Given the description of an element on the screen output the (x, y) to click on. 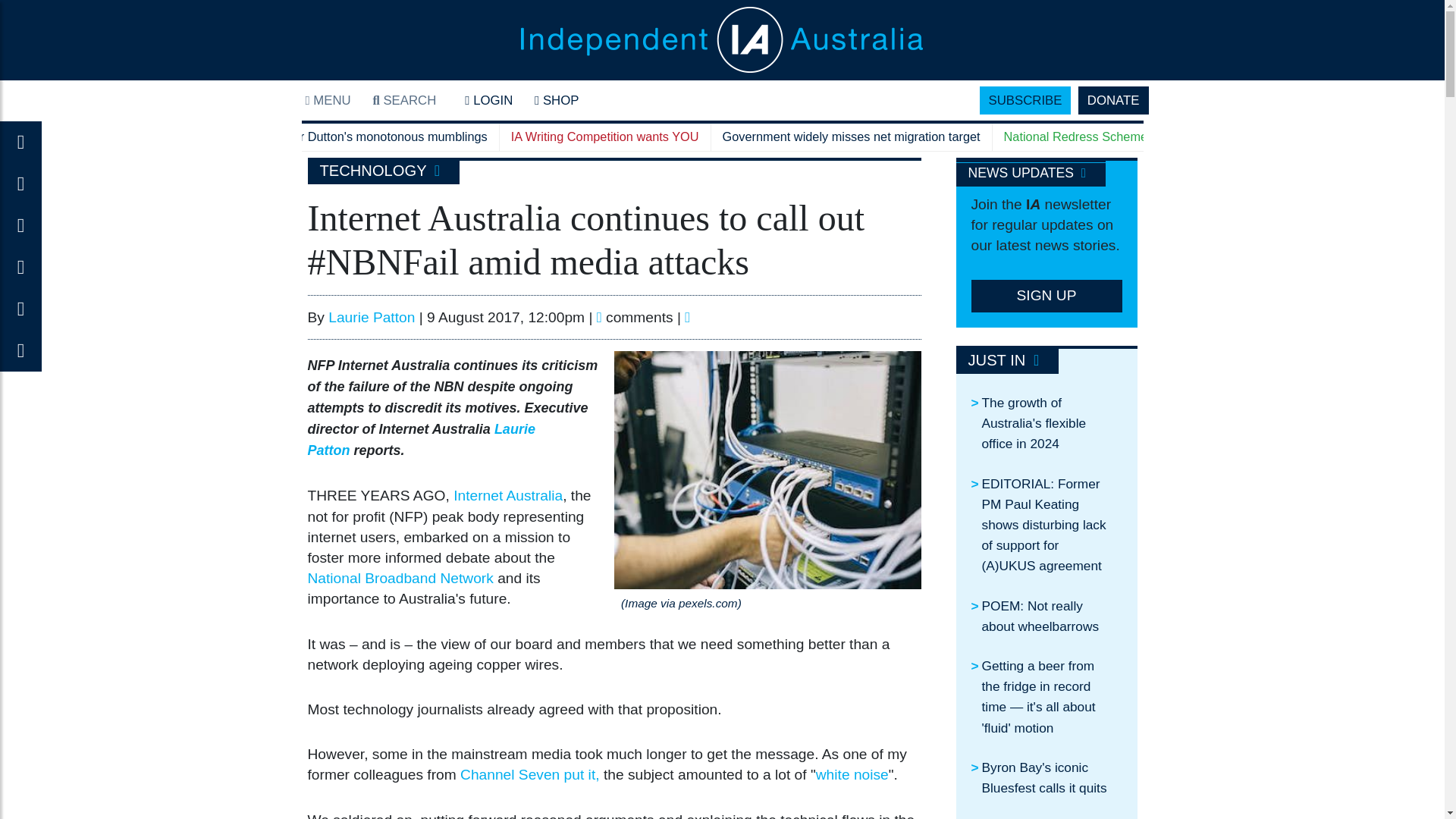
Permanent Link : Byron Bay's iconic Bluesfest calls it quits (1043, 777)
View all of this authors articles (371, 317)
Permanent Link : POEM: Not really about wheelbarrows (1040, 615)
